Given the description of an element on the screen output the (x, y) to click on. 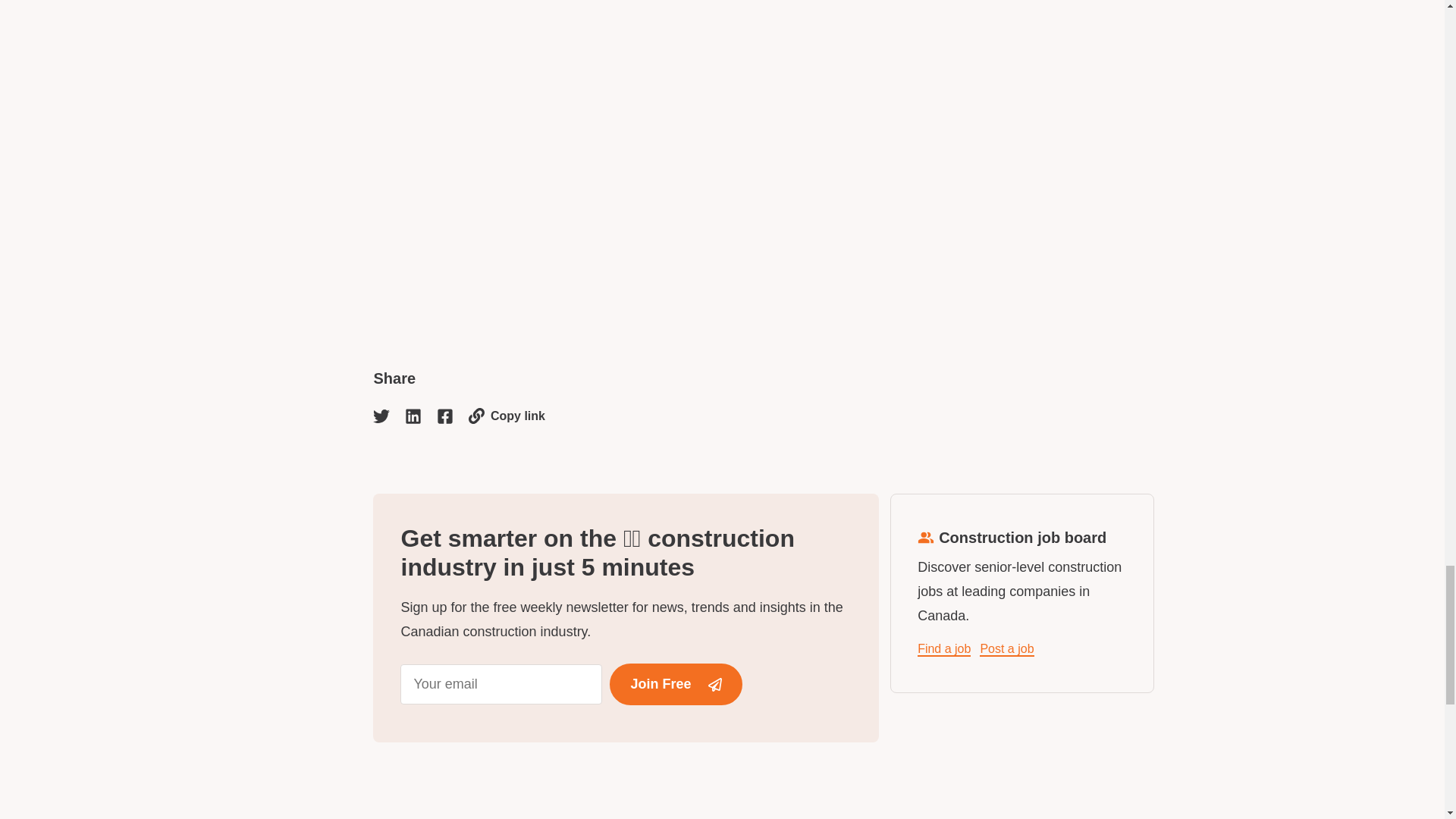
Copy link (506, 415)
Post a job (1006, 649)
Find a job (944, 649)
Join Free (675, 684)
